Given the description of an element on the screen output the (x, y) to click on. 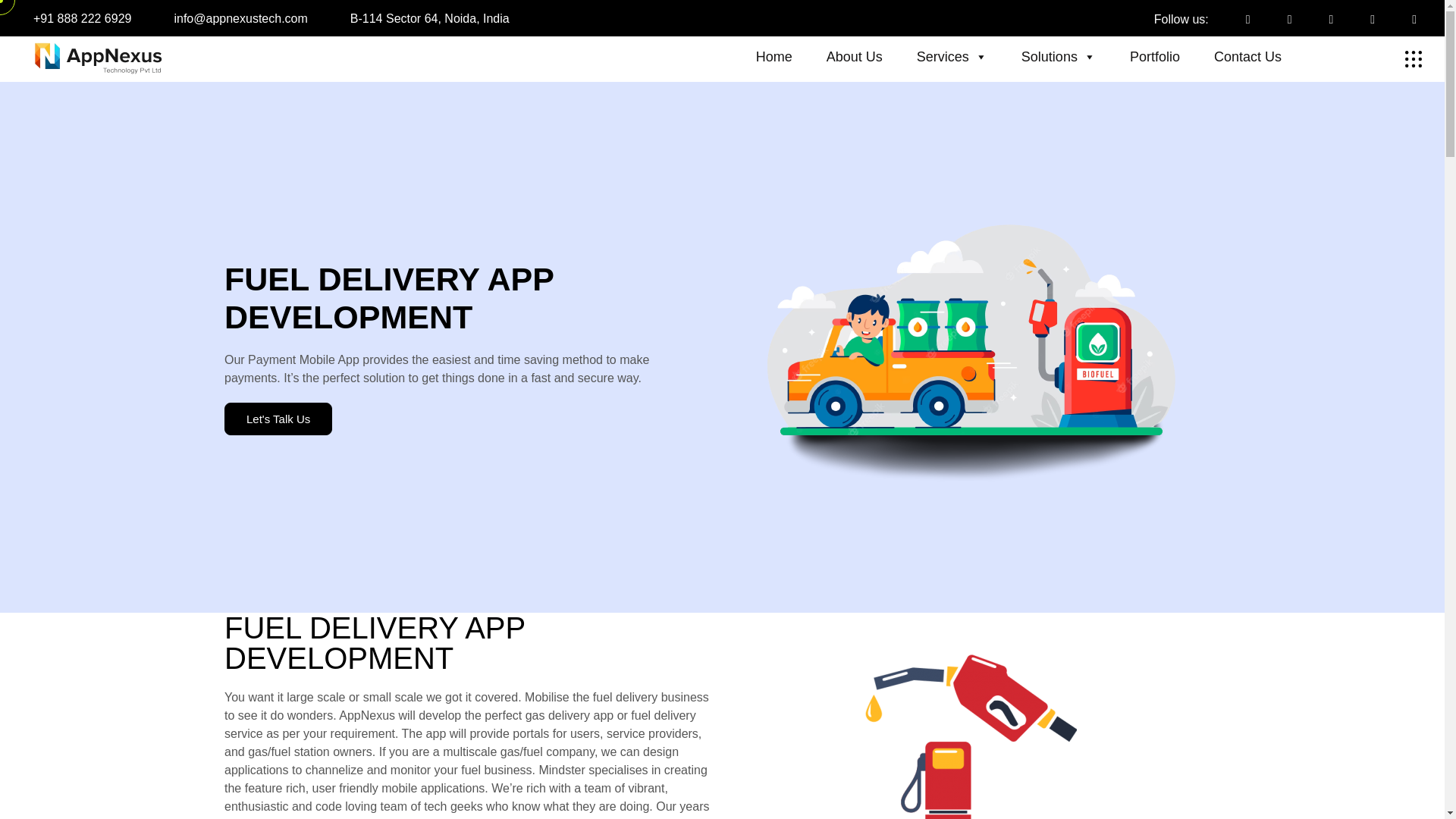
About Us (863, 56)
B-114 Sector 64, Noida, India (429, 18)
Follow us: (1180, 18)
AppNexus Technology (94, 57)
Home (783, 56)
Services (960, 56)
